Given the description of an element on the screen output the (x, y) to click on. 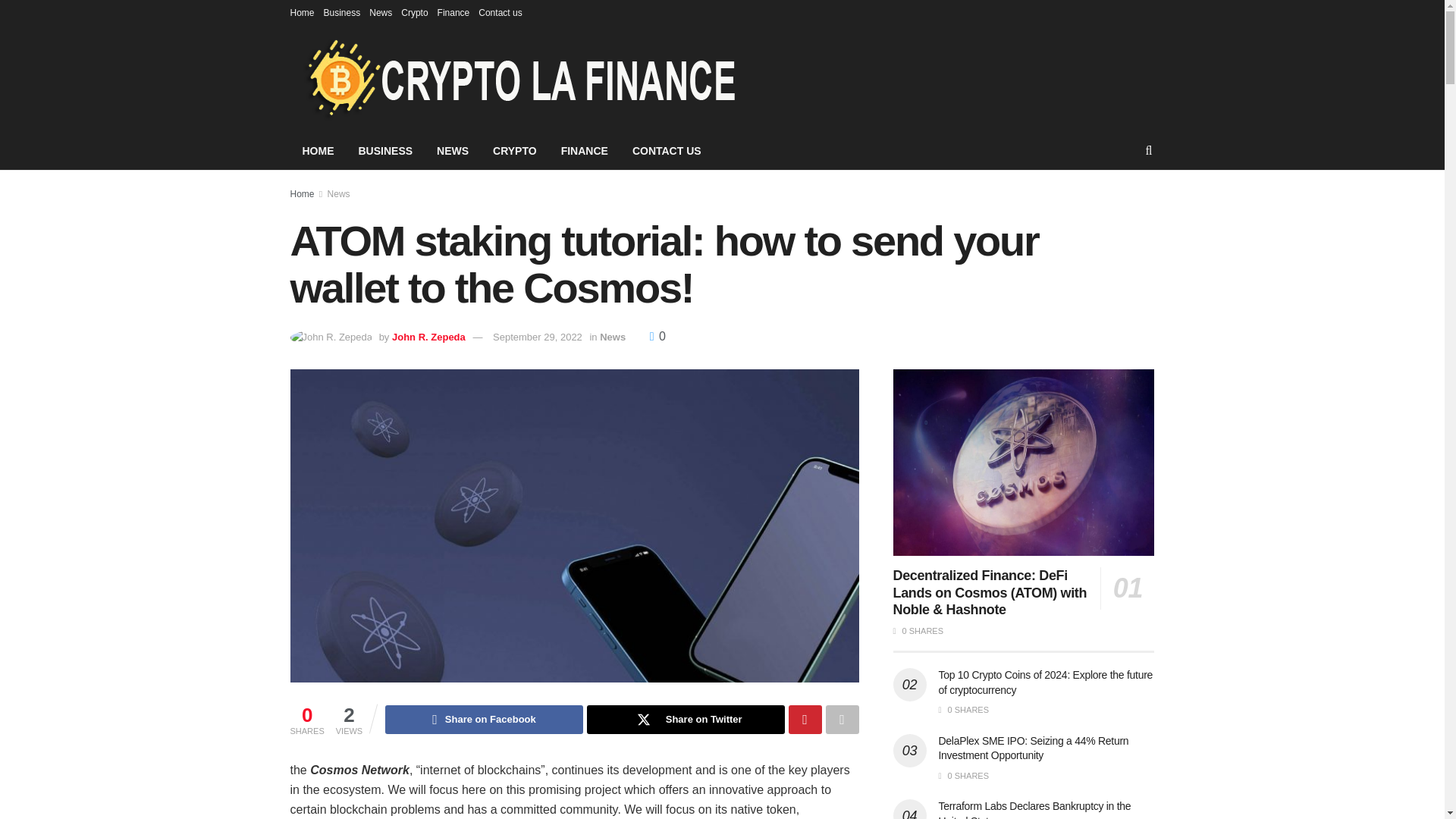
John R. Zepeda (428, 337)
Share on Facebook (484, 719)
News (338, 194)
FINANCE (584, 150)
Finance (454, 12)
Share on Twitter (685, 719)
News (612, 337)
Home (301, 12)
NEWS (452, 150)
CRYPTO (514, 150)
September 29, 2022 (537, 337)
HOME (317, 150)
BUSINESS (385, 150)
Home (301, 194)
Contact us (500, 12)
